Given the description of an element on the screen output the (x, y) to click on. 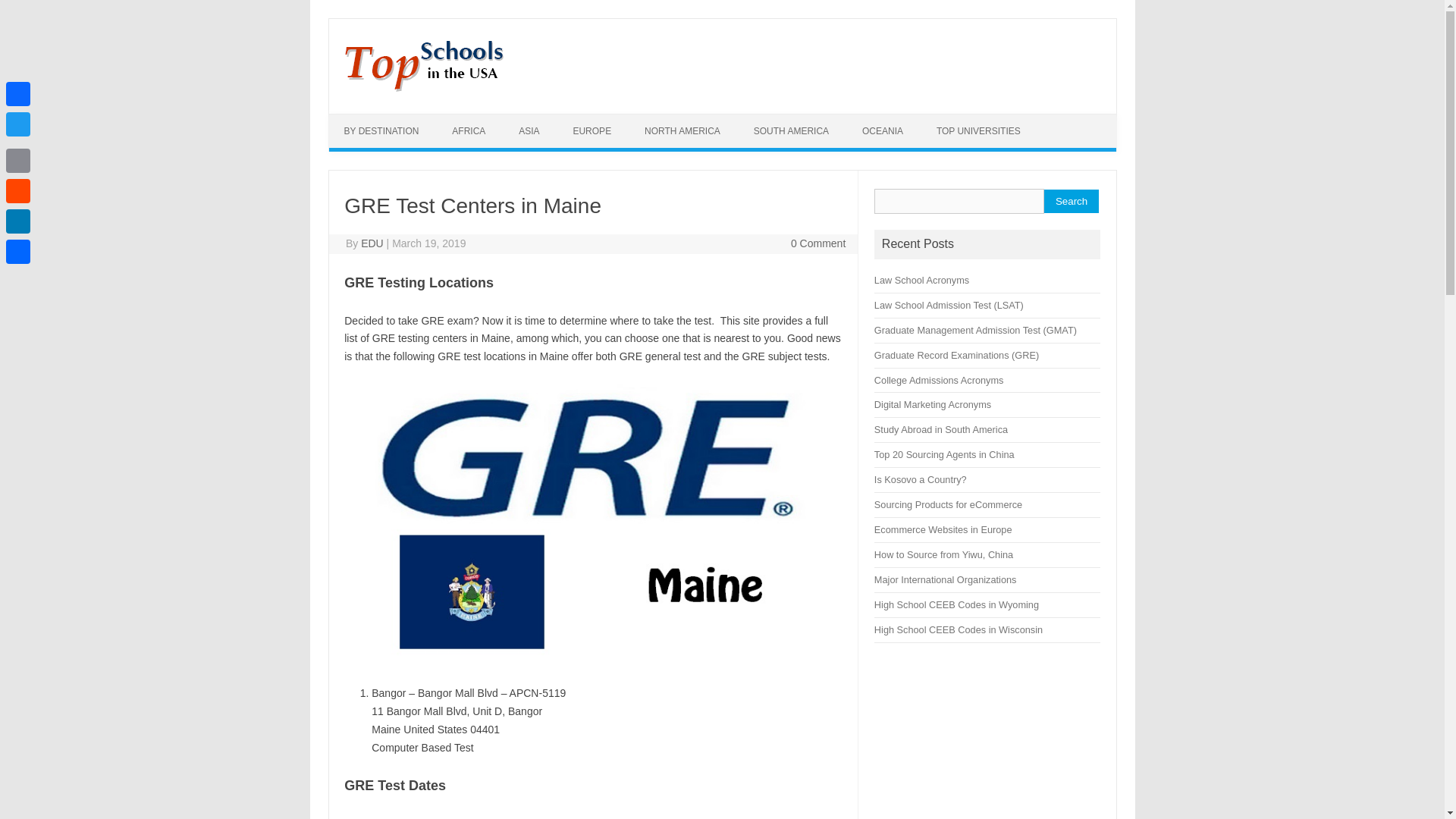
Skip to content (363, 118)
Is Kosovo a Country? (920, 479)
EDU (372, 243)
Reddit (17, 191)
AFRICA (468, 131)
Posts by EDU (372, 243)
SOUTH AMERICA (791, 131)
OCEANIA (882, 131)
TOP UNIVERSITIES (978, 131)
Email (17, 160)
College Admissions Acronyms (939, 379)
EUROPE (591, 131)
Top Schools in the USA (421, 87)
ASIA (528, 131)
NORTH AMERICA (681, 131)
